Given the description of an element on the screen output the (x, y) to click on. 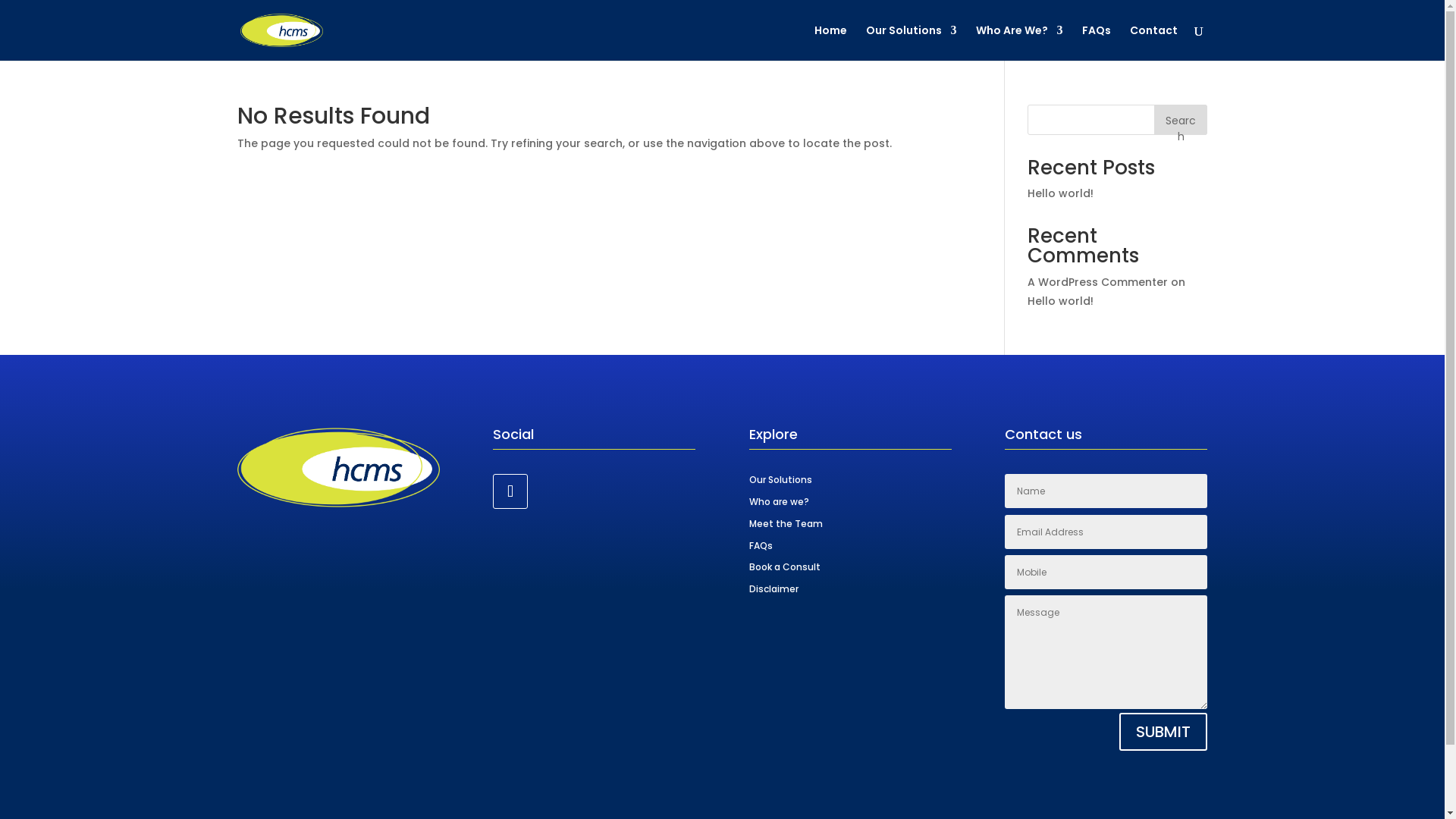
Who Are We? Element type: text (1018, 42)
HCMS Logo (Nav) Element type: hover (337, 467)
Our Solutions Element type: text (911, 42)
Book a Consult Element type: text (784, 566)
Who are we? Element type: text (779, 501)
A WordPress Commenter Element type: text (1097, 281)
Home Element type: text (830, 42)
Our Solutions Element type: text (780, 479)
Meet the Team Element type: text (785, 523)
Hello world! Element type: text (1060, 300)
SUBMIT Element type: text (1163, 731)
FAQs Element type: text (760, 545)
Contact Element type: text (1153, 42)
FAQs Element type: text (1095, 42)
Follow on LinkedIn Element type: hover (509, 490)
Only numbers allowed. Element type: hover (1105, 572)
Hello world! Element type: text (1060, 192)
Search Element type: text (1180, 119)
Disclaimer Element type: text (773, 588)
